Given the description of an element on the screen output the (x, y) to click on. 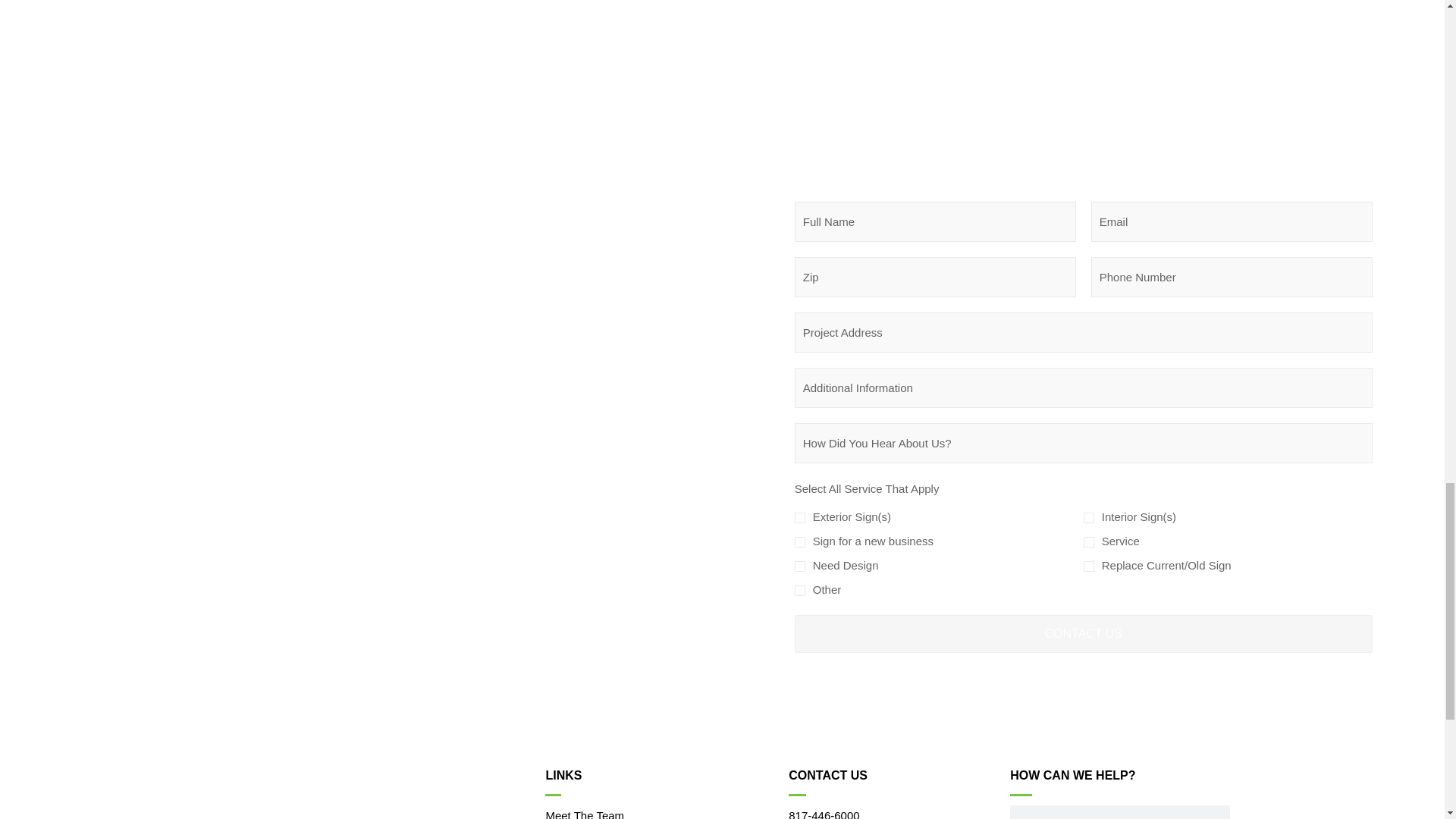
business signs Fort Worth companies (485, 15)
